Given the description of an element on the screen output the (x, y) to click on. 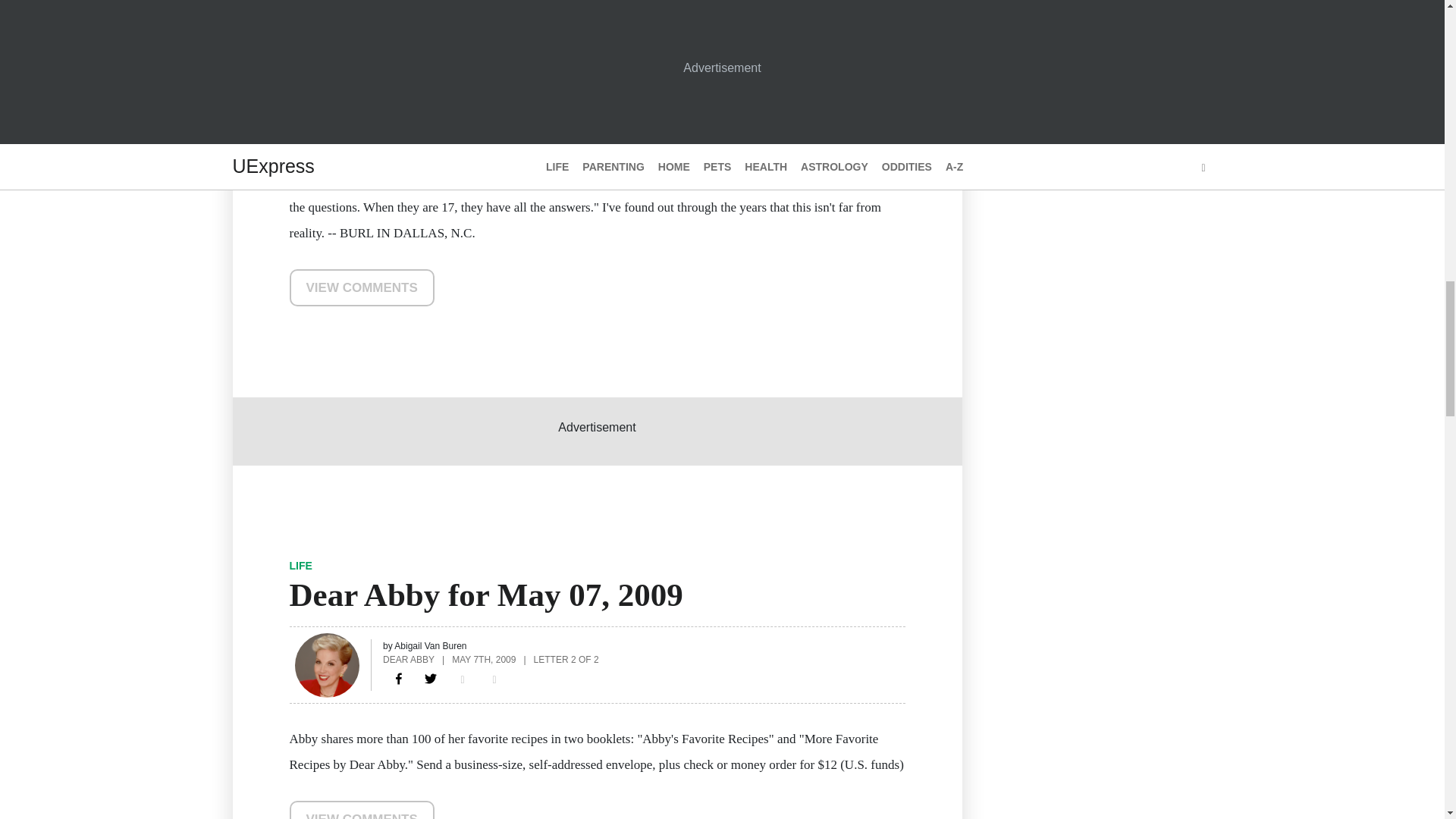
Dear Abby for May 07, 2009 (398, 678)
DEAR ABBY (407, 659)
VIEW COMMENTS (361, 287)
LIFE (301, 565)
VIEW COMMENTS (361, 809)
